Given the description of an element on the screen output the (x, y) to click on. 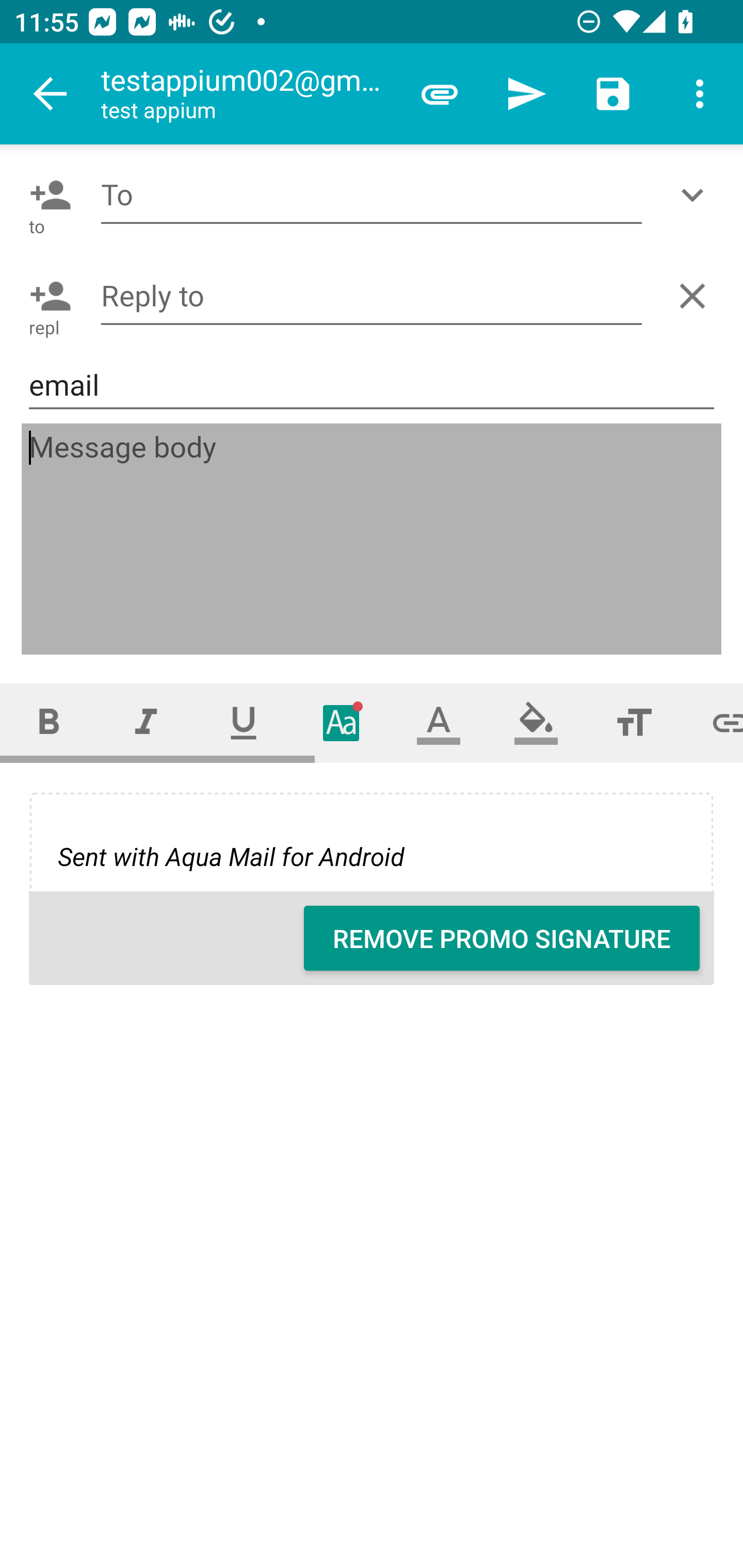
Navigate up (50, 93)
testappium002@gmail.com test appium (248, 93)
Attach (439, 93)
Send (525, 93)
Save (612, 93)
More options (699, 93)
Pick contact: To (46, 195)
Show/Add CC/BCC (696, 195)
To (371, 195)
Pick contact: Reply to (46, 296)
Delete (696, 296)
Reply to (371, 295)
email (371, 384)
Message body (372, 540)
Bold (48, 723)
Italic (145, 723)
Underline (243, 723)
Typeface (font) (341, 723)
Text color (438, 723)
Fill color (536, 723)
Font size (633, 723)
REMOVE PROMO SIGNATURE (501, 938)
